Given the description of an element on the screen output the (x, y) to click on. 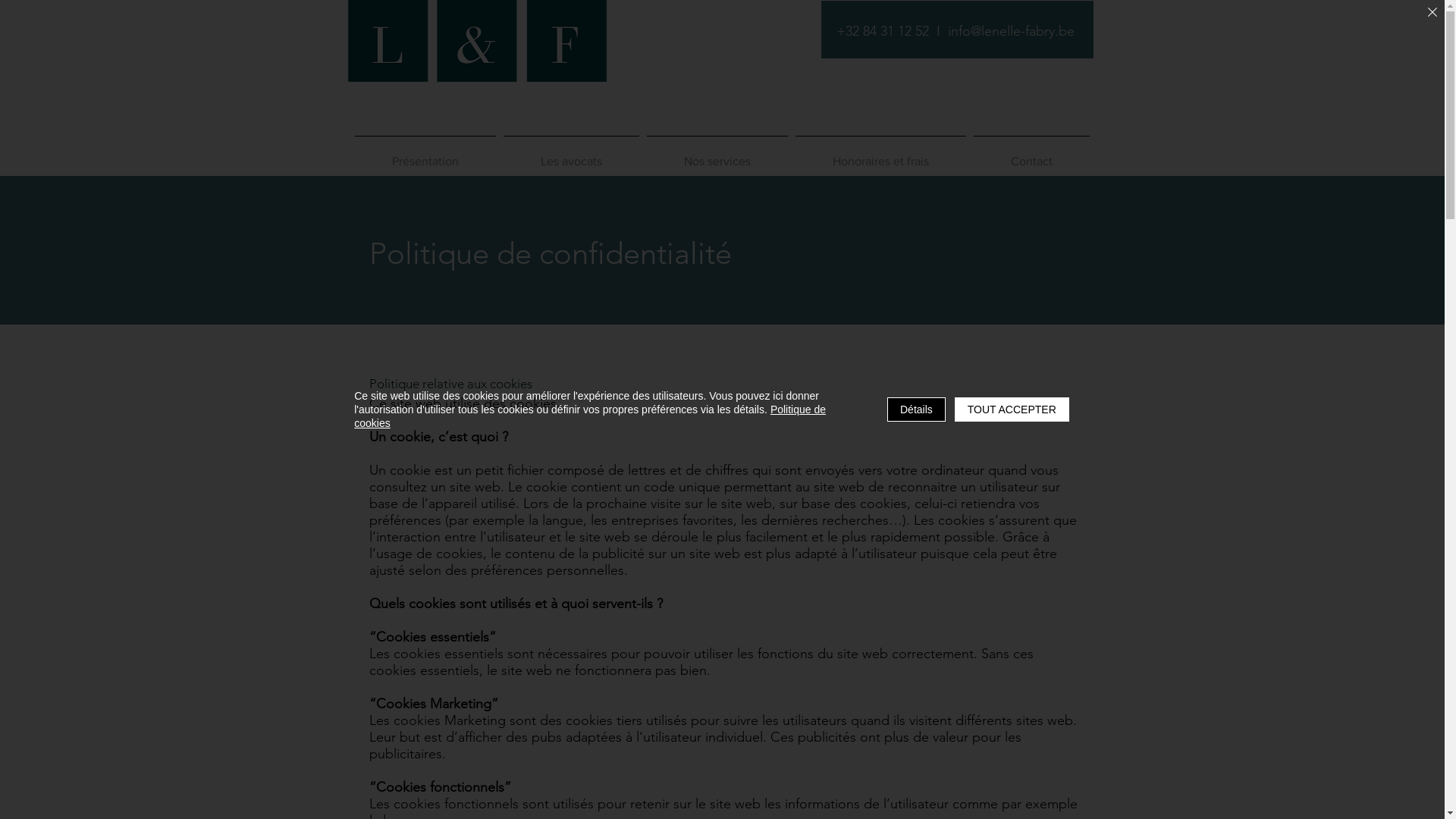
Honoraires et frais Element type: text (880, 154)
Politique de cookies Element type: text (589, 416)
+32 84 31 12 52 Element type: text (881, 30)
Nos services Element type: text (717, 154)
Contact Element type: text (1030, 154)
Logo L&F.png Element type: hover (475, 63)
Les avocats Element type: text (570, 154)
info@lenelle-fabry.be Element type: text (1010, 30)
TOUT ACCEPTER Element type: text (1011, 409)
